Given the description of an element on the screen output the (x, y) to click on. 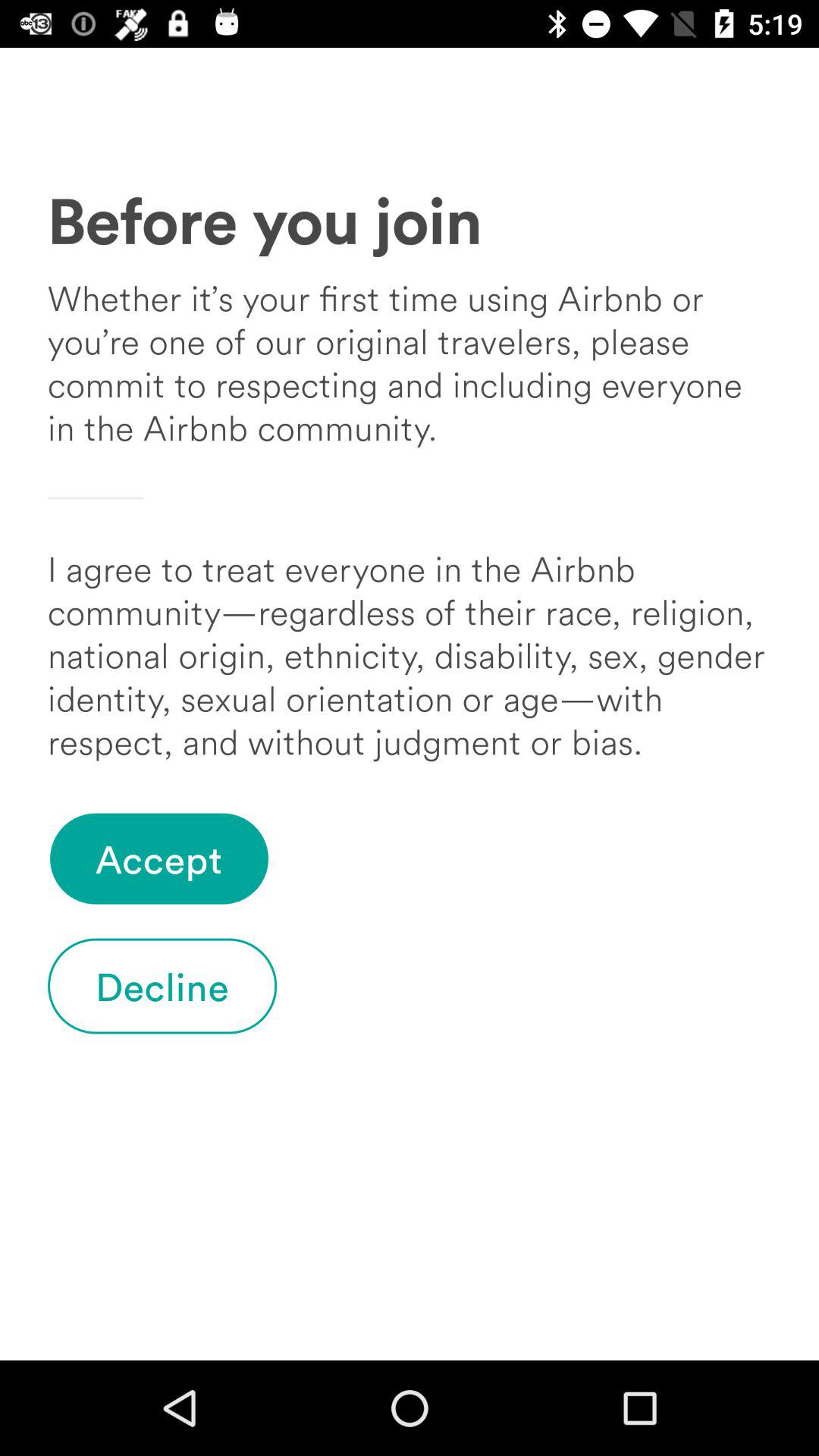
select accept item (158, 858)
